Given the description of an element on the screen output the (x, y) to click on. 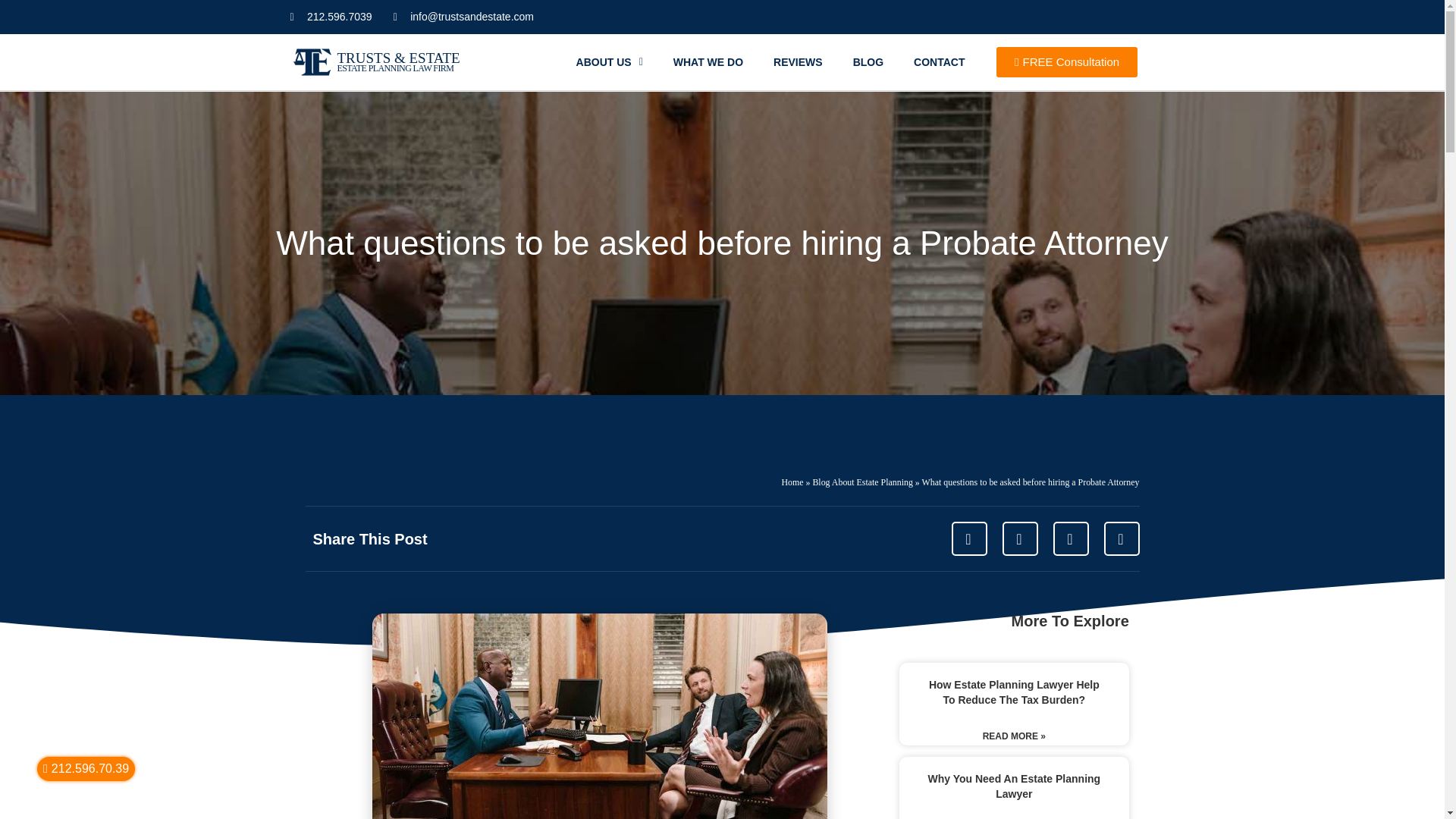
Blog About Estate Planning (862, 481)
ESTATE PLANNING LAW FIRM (394, 67)
212.596.7039 (330, 16)
Home (791, 481)
FREE Consultation (1066, 61)
How Estate Planning Lawyer Help To Reduce The Tax Burden? (1013, 691)
BLOG (868, 61)
ABOUT US (609, 61)
REVIEWS (798, 61)
Why You Need An Estate Planning Lawyer (1013, 786)
CONTACT (938, 61)
WHAT WE DO (708, 61)
212.596.70.39 (86, 768)
